Given the description of an element on the screen output the (x, y) to click on. 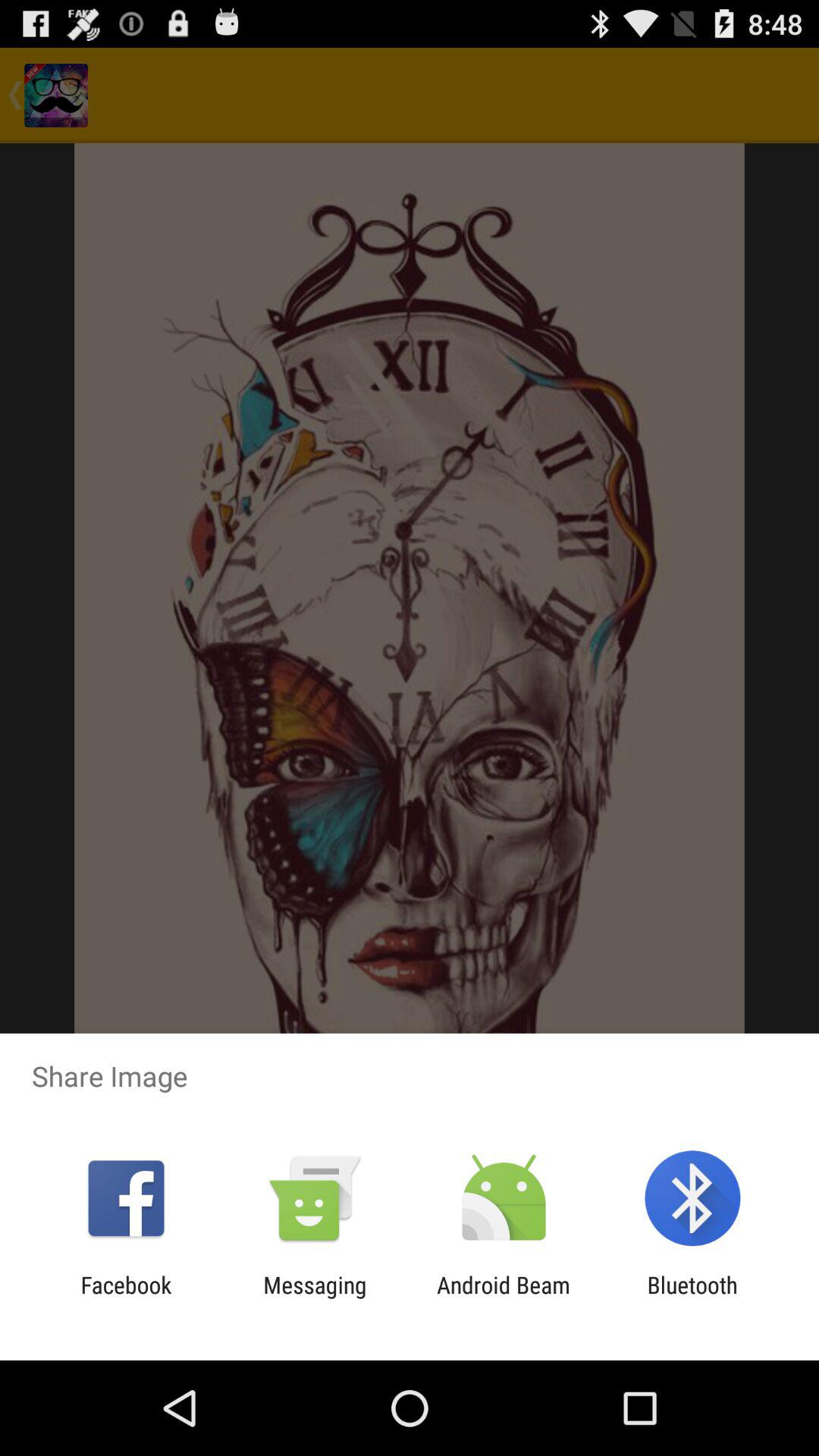
select item next to facebook app (314, 1298)
